Given the description of an element on the screen output the (x, y) to click on. 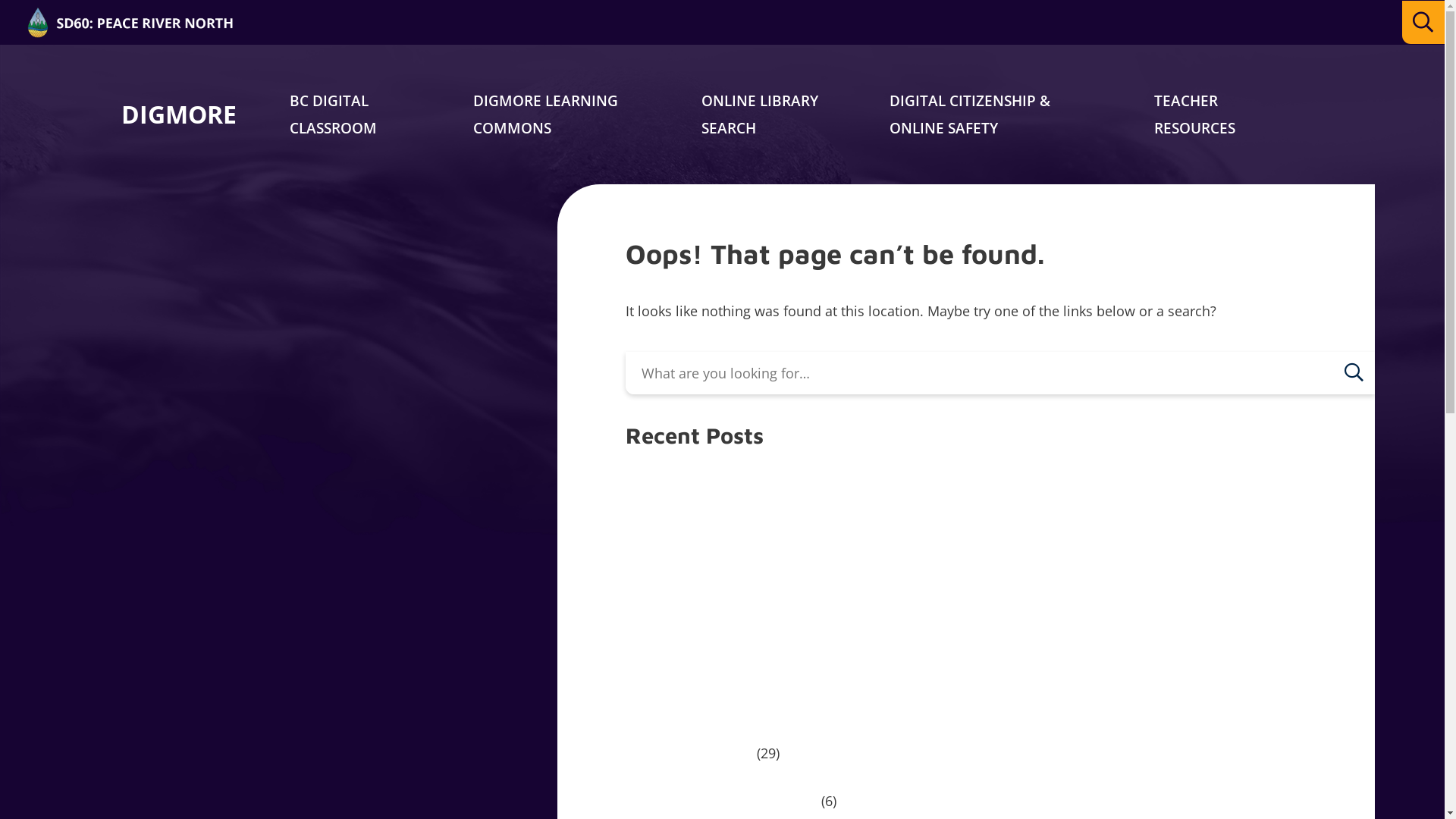
Thinking About Trying Something New? Element type: text (778, 482)
DIGITAL CITIZENSHIP & ONLINE SAFETY Element type: text (969, 114)
Secondary Lesson Ideas Element type: text (721, 800)
DIGMORE LEARNING COMMONS Element type: text (545, 114)
TEACHER RESOURCES Element type: text (1194, 114)
DIGMORE Element type: text (178, 114)
North Peace Secondary Wins Gold For Second Straight Year Element type: text (847, 530)
ONLINE LIBRARY SEARCH Element type: text (759, 114)
Uncategorized Element type: text (689, 752)
Climate Change collection from Curio.ca Element type: text (781, 626)
Hello world! Element type: text (681, 578)
BC DIGITAL CLASSROOM Element type: text (332, 114)
